Given the description of an element on the screen output the (x, y) to click on. 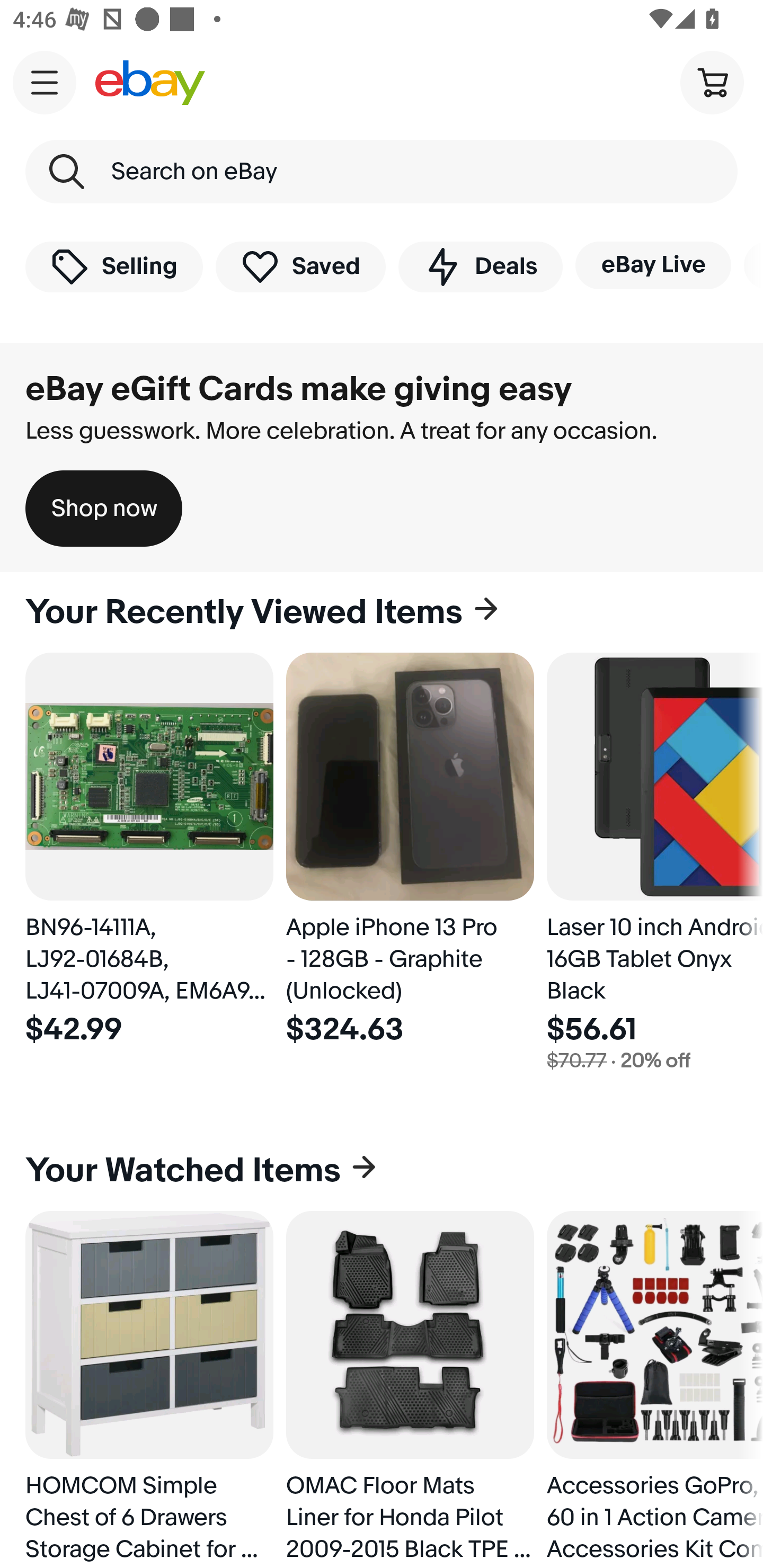
Main navigation, open (44, 82)
Cart button shopping cart (711, 81)
Search on eBay Search Keyword Search on eBay (381, 171)
Selling (113, 266)
Saved (300, 266)
Deals (480, 266)
eBay Live (652, 264)
eBay eGift Cards make giving easy (298, 389)
Shop now (103, 508)
Your Recently Viewed Items   (381, 612)
Your Watched Items   (381, 1170)
